Given the description of an element on the screen output the (x, y) to click on. 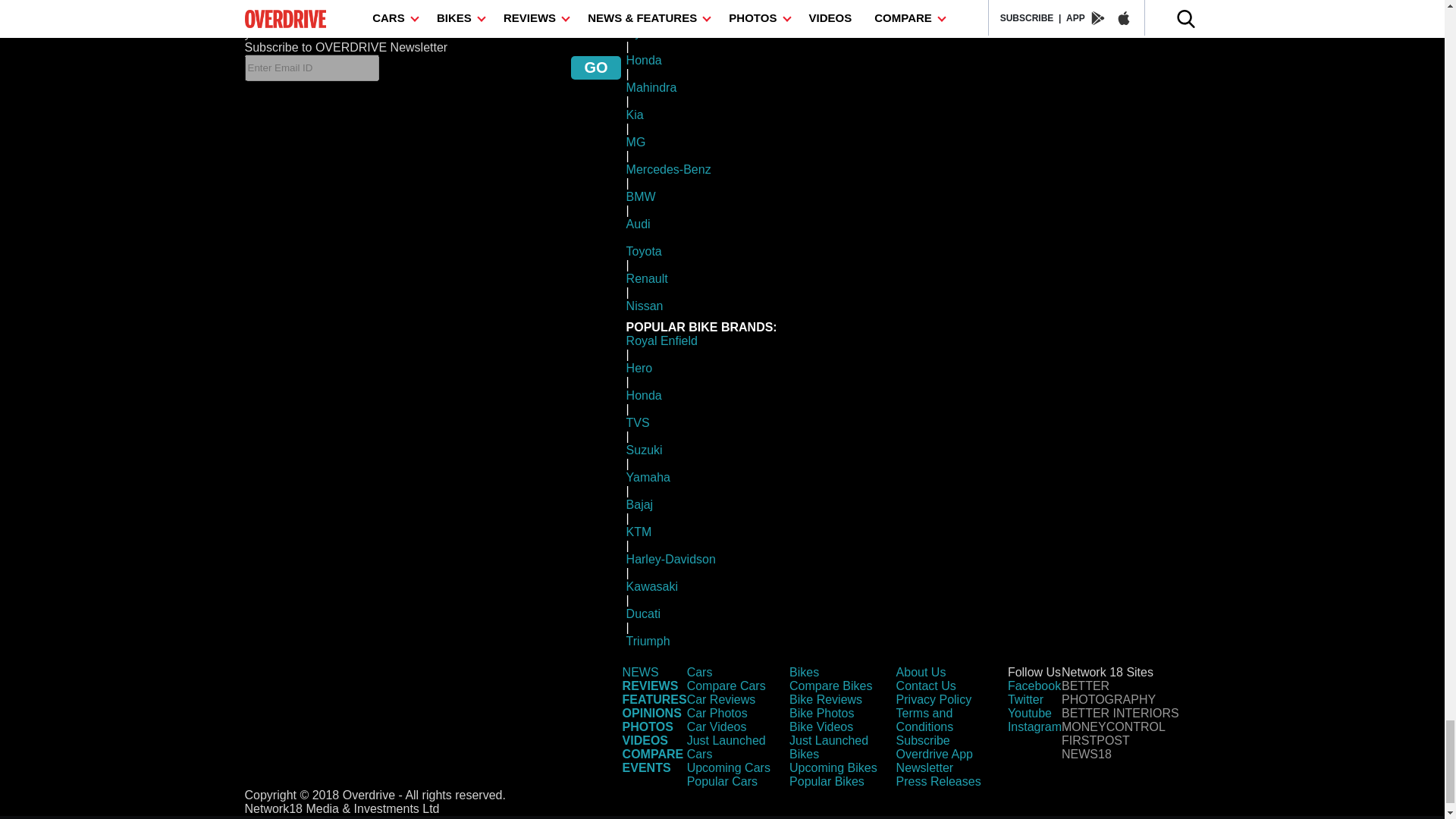
go (595, 67)
go (595, 67)
